Given the description of an element on the screen output the (x, y) to click on. 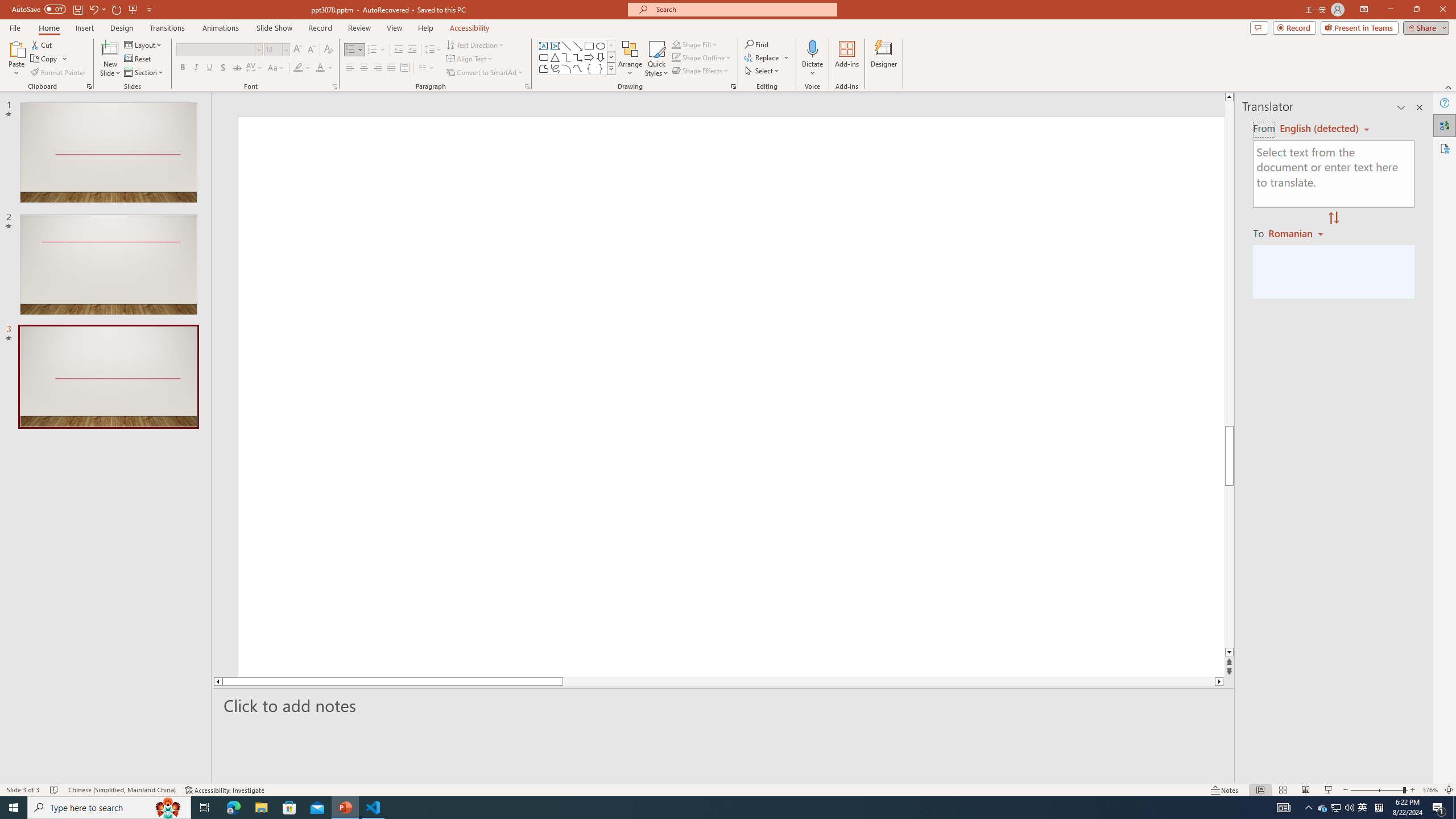
Shape Fill Dark Green, Accent 2 (675, 44)
Slide Notes (724, 705)
